Given the description of an element on the screen output the (x, y) to click on. 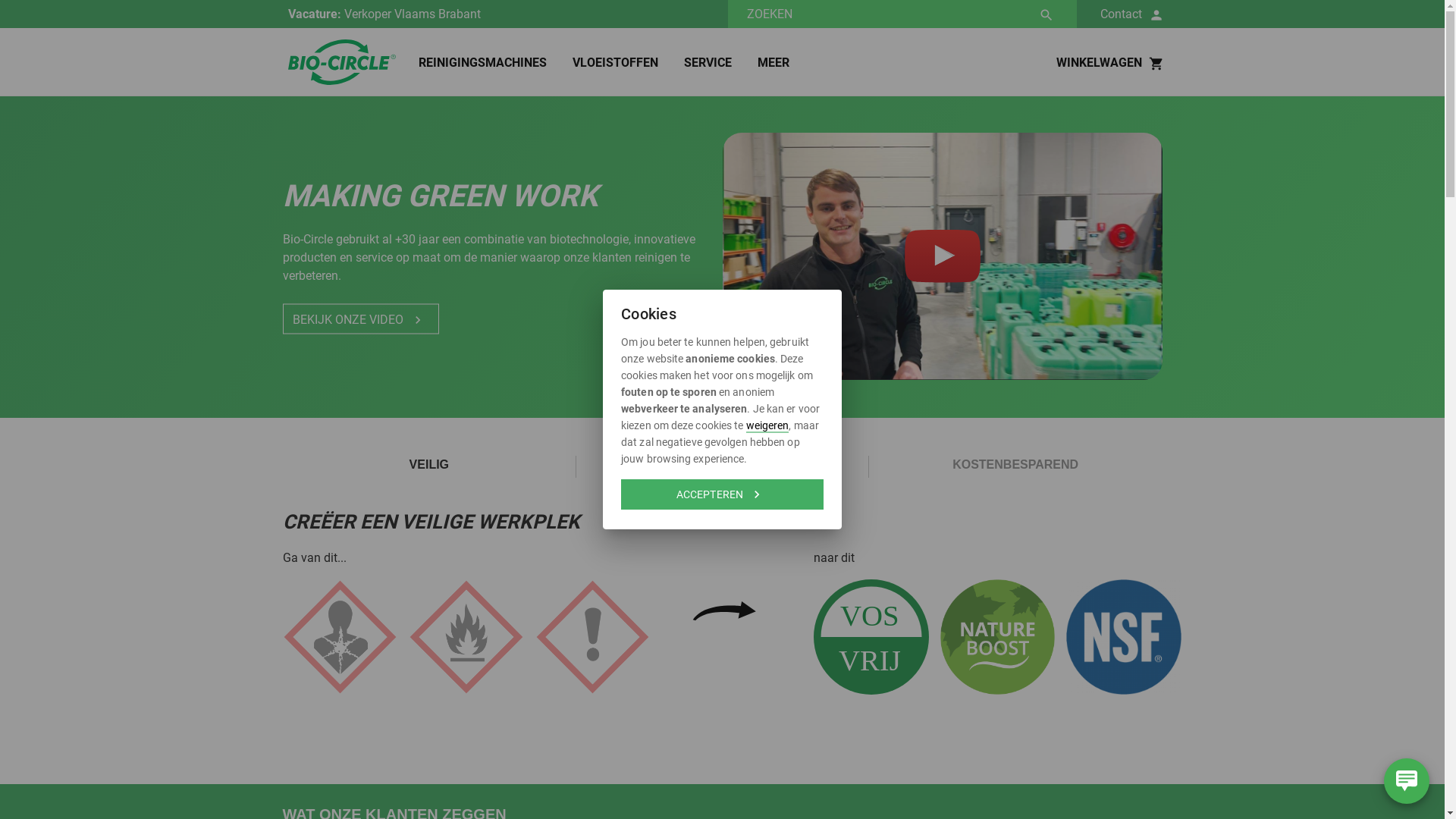
weigeren Element type: text (767, 425)
BEKIJK ONZE VIDEO chevron_right Element type: text (360, 319)
VLOEISTOFFEN Element type: text (603, 62)
search Element type: text (1046, 14)
REINIGINGSMACHINES Element type: text (470, 62)
WINKELWAGEN
shopping_cart Element type: text (1111, 62)
MEER Element type: text (761, 62)
Vacature: Verkoper Vlaams Brabant Element type: text (508, 14)
SERVICE Element type: text (696, 62)
ACCEPTEREN chevron_right Element type: text (722, 494)
